Given the description of an element on the screen output the (x, y) to click on. 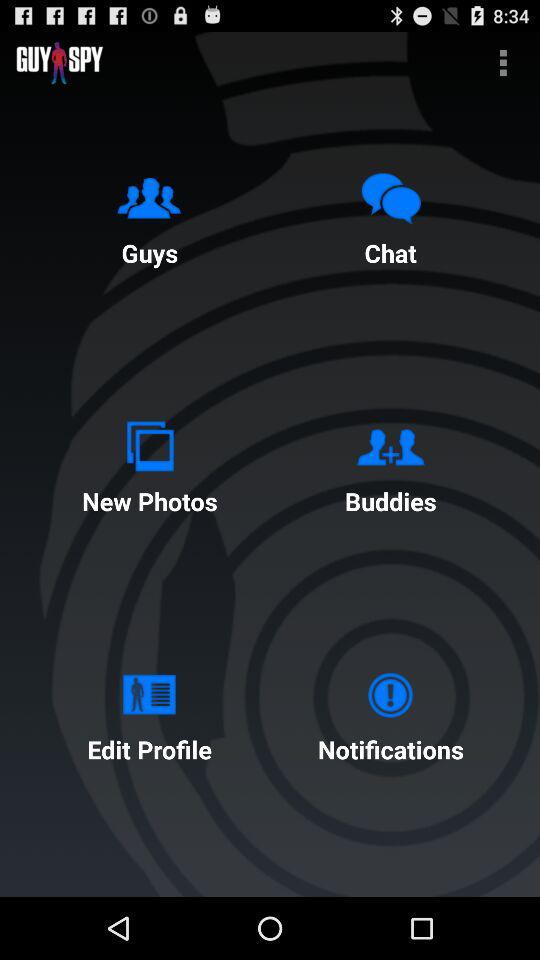
choose item to the right of the new photos icon (390, 463)
